Given the description of an element on the screen output the (x, y) to click on. 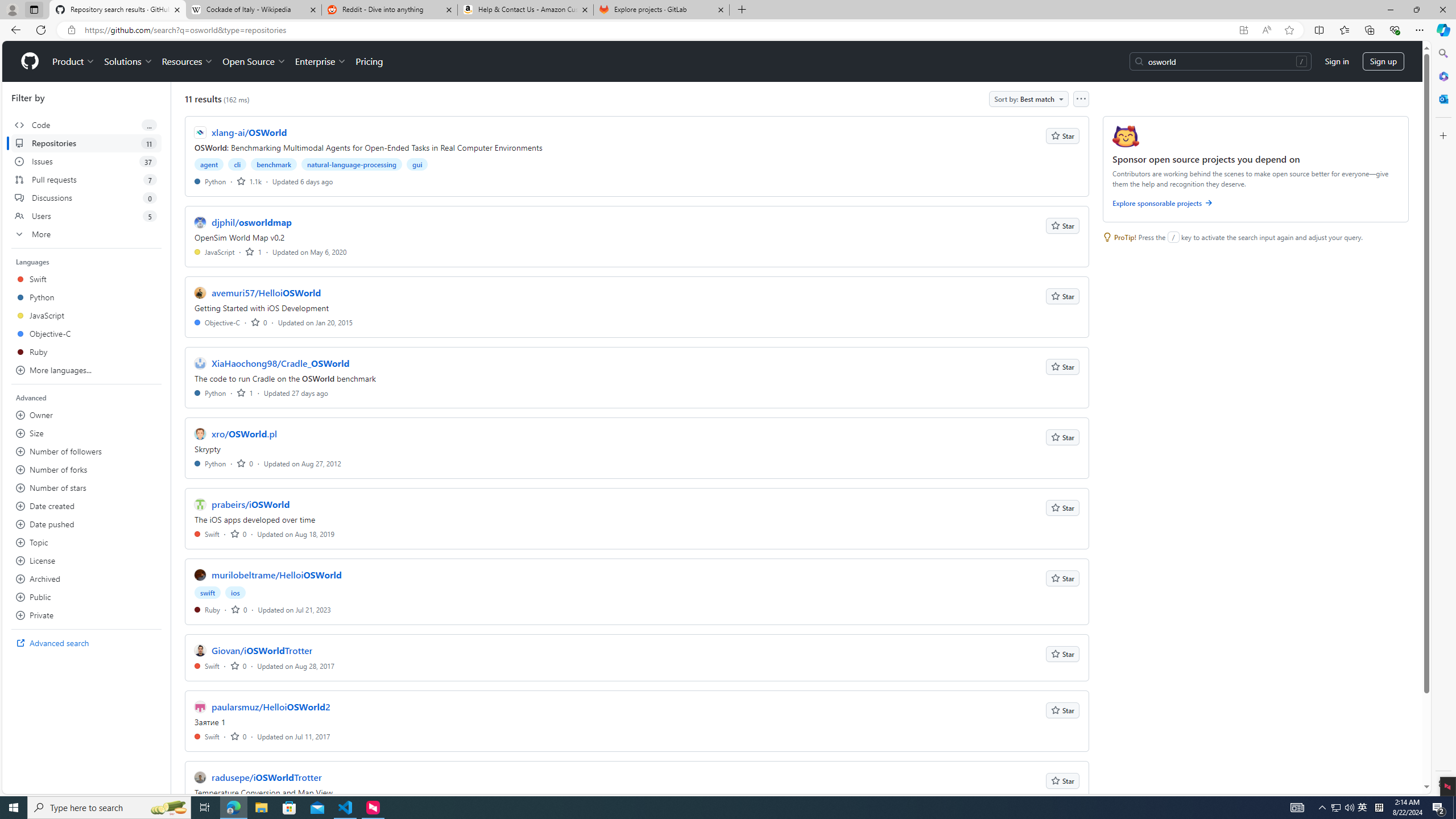
Swift (207, 736)
Help & Contact Us - Amazon Customer Service (525, 9)
Customize (1442, 135)
1098 stars (248, 181)
Homepage (29, 61)
View site information (70, 29)
Open Source (254, 60)
paularsmuz/HelloiOSWorld2 (270, 707)
